Given the description of an element on the screen output the (x, y) to click on. 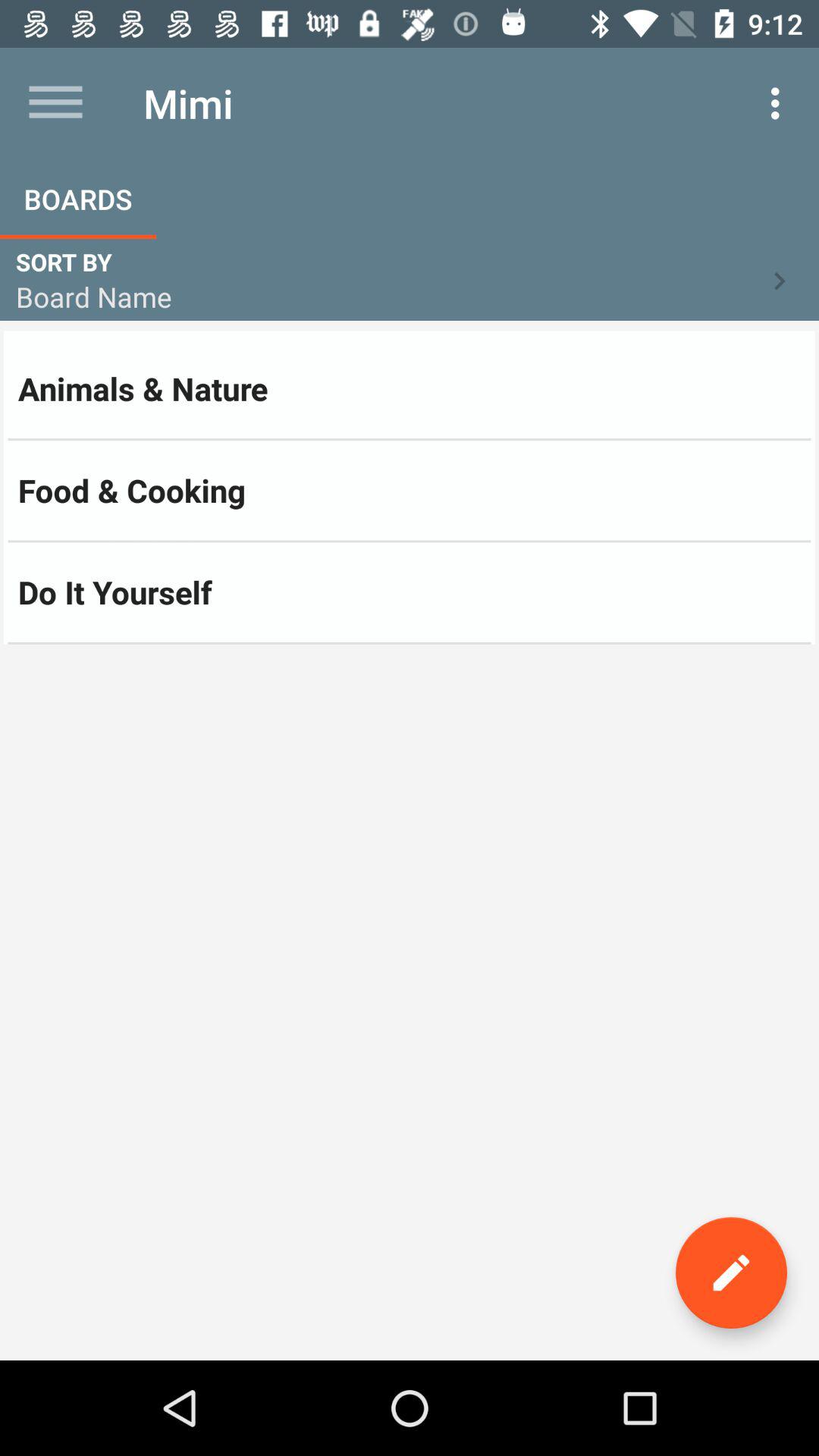
choose the icon above the boards item (55, 103)
